Given the description of an element on the screen output the (x, y) to click on. 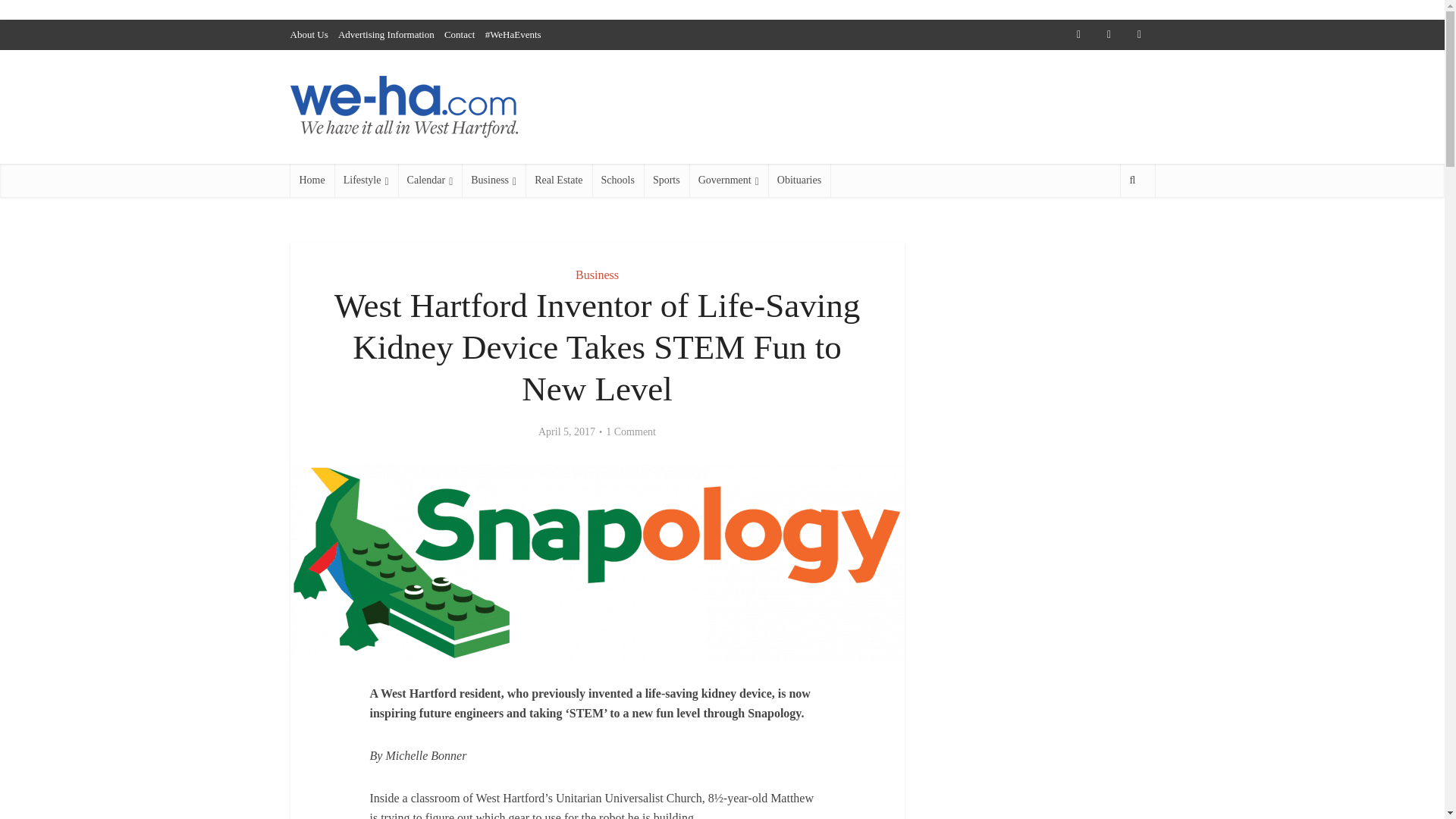
About Us (308, 34)
Contact (459, 34)
Lifestyle (365, 180)
Advertising Information (385, 34)
Obituaries (798, 180)
Real Estate (558, 180)
Business (596, 274)
1 Comment (630, 431)
Sports (665, 180)
Government (728, 180)
Calendar (430, 180)
Home (311, 180)
Schools (617, 180)
Business (493, 180)
